Given the description of an element on the screen output the (x, y) to click on. 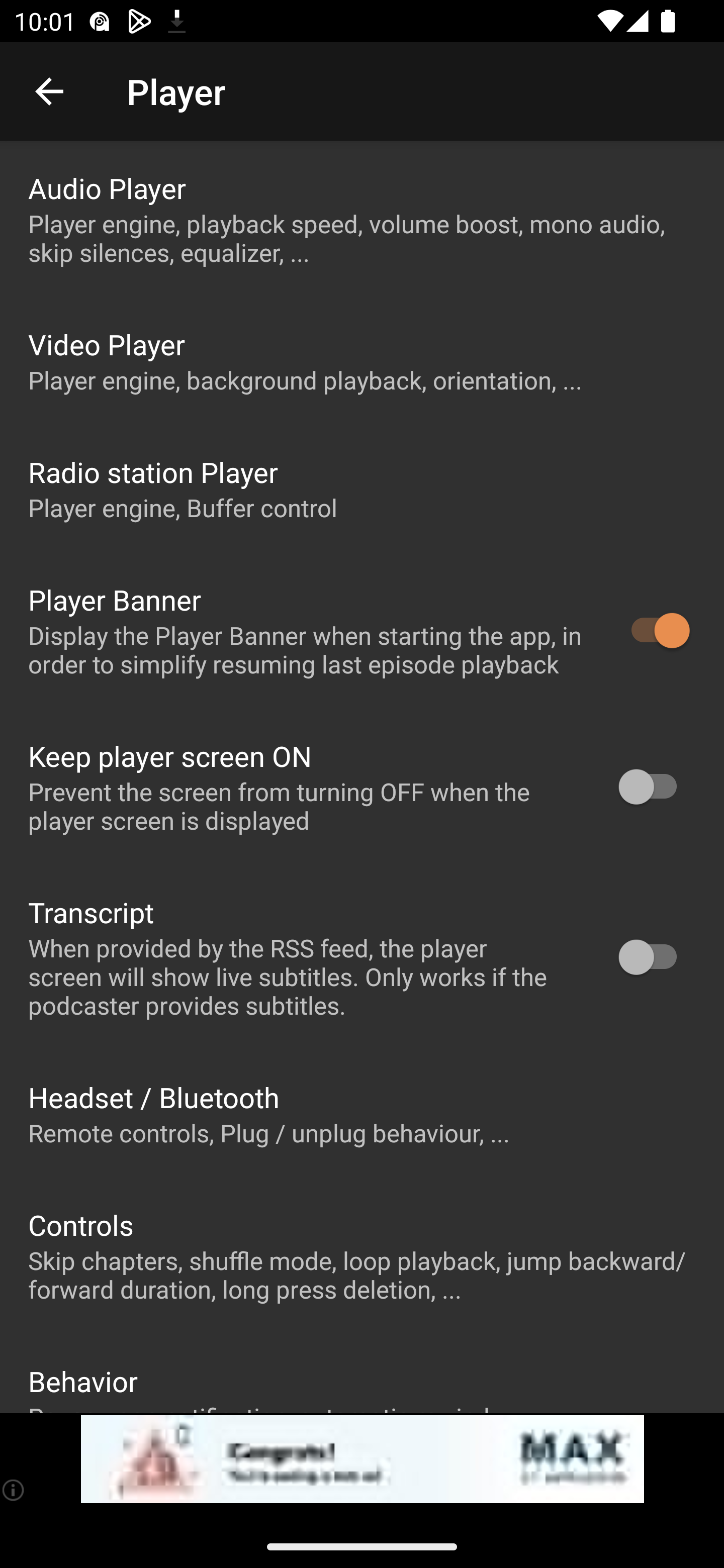
Navigate up (49, 91)
Radio station Player Player engine, Buffer control (362, 487)
app-monetization (362, 1459)
(i) (14, 1489)
